Given the description of an element on the screen output the (x, y) to click on. 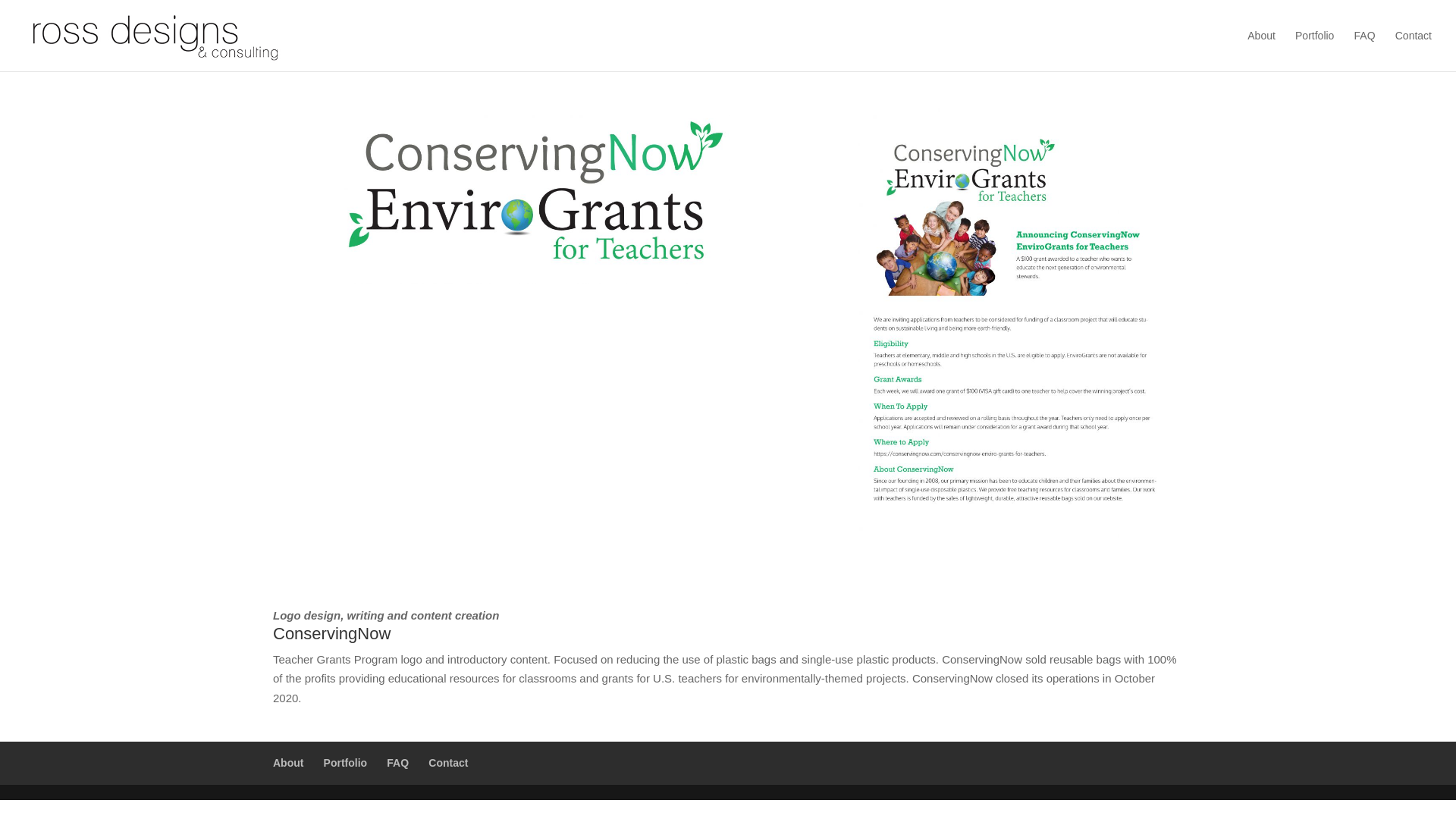
ConservingNow EnviroGrants Overview page (1015, 536)
About (287, 762)
Contact (1412, 50)
Portfolio (1314, 50)
ConservingNow Enviro Grants Program Logo (535, 194)
Contact (447, 762)
FAQ (398, 762)
Portfolio (345, 762)
